Given the description of an element on the screen output the (x, y) to click on. 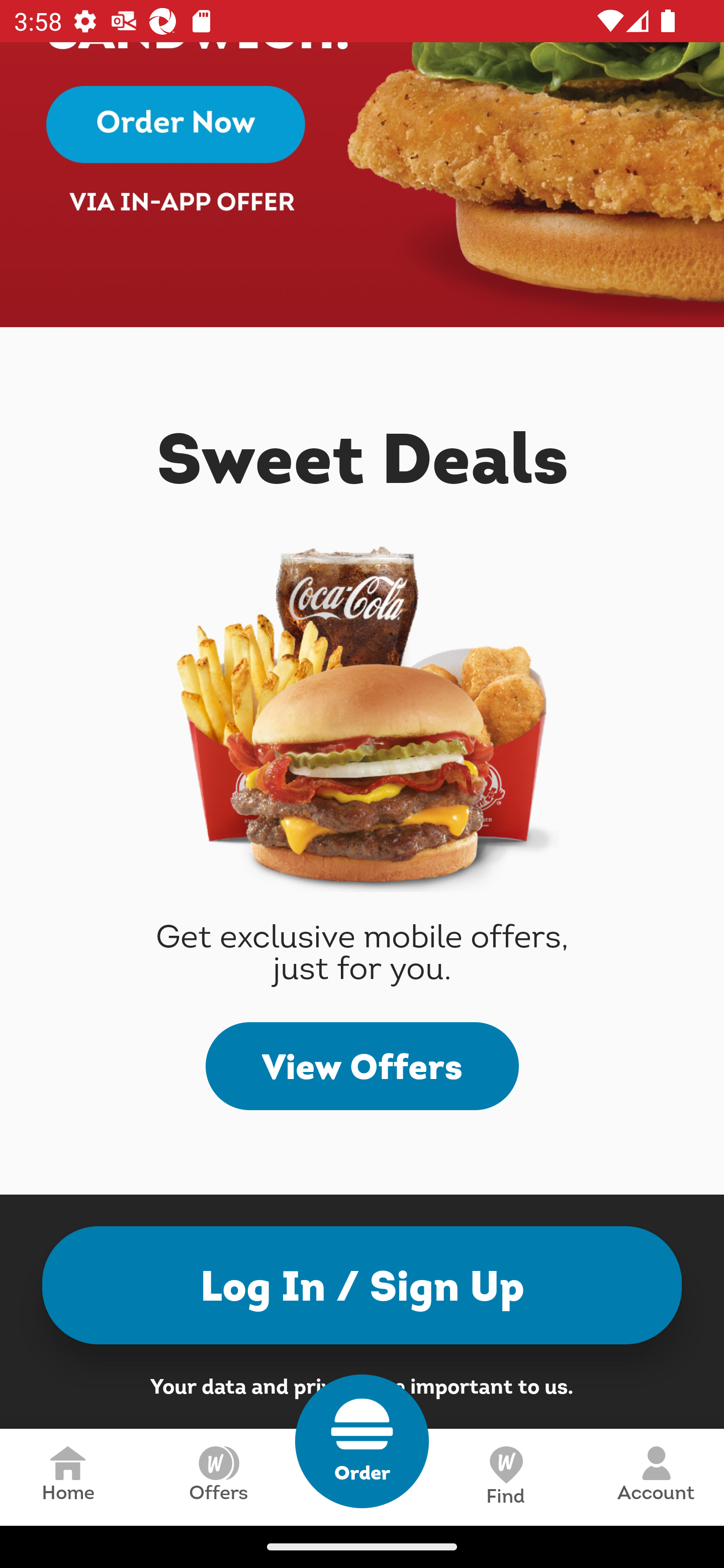
Campaign image (362, 184)
View Offers (362, 1066)
Log In / Sign Up (361, 1284)
Order,3 of 5 Order (361, 1441)
Home,1 of 5 Home (68, 1476)
Rewards,2 of 5 Offers Offers (218, 1476)
Scan,4 of 5 Find Find (505, 1476)
Account,5 of 5 Account (655, 1476)
